Given the description of an element on the screen output the (x, y) to click on. 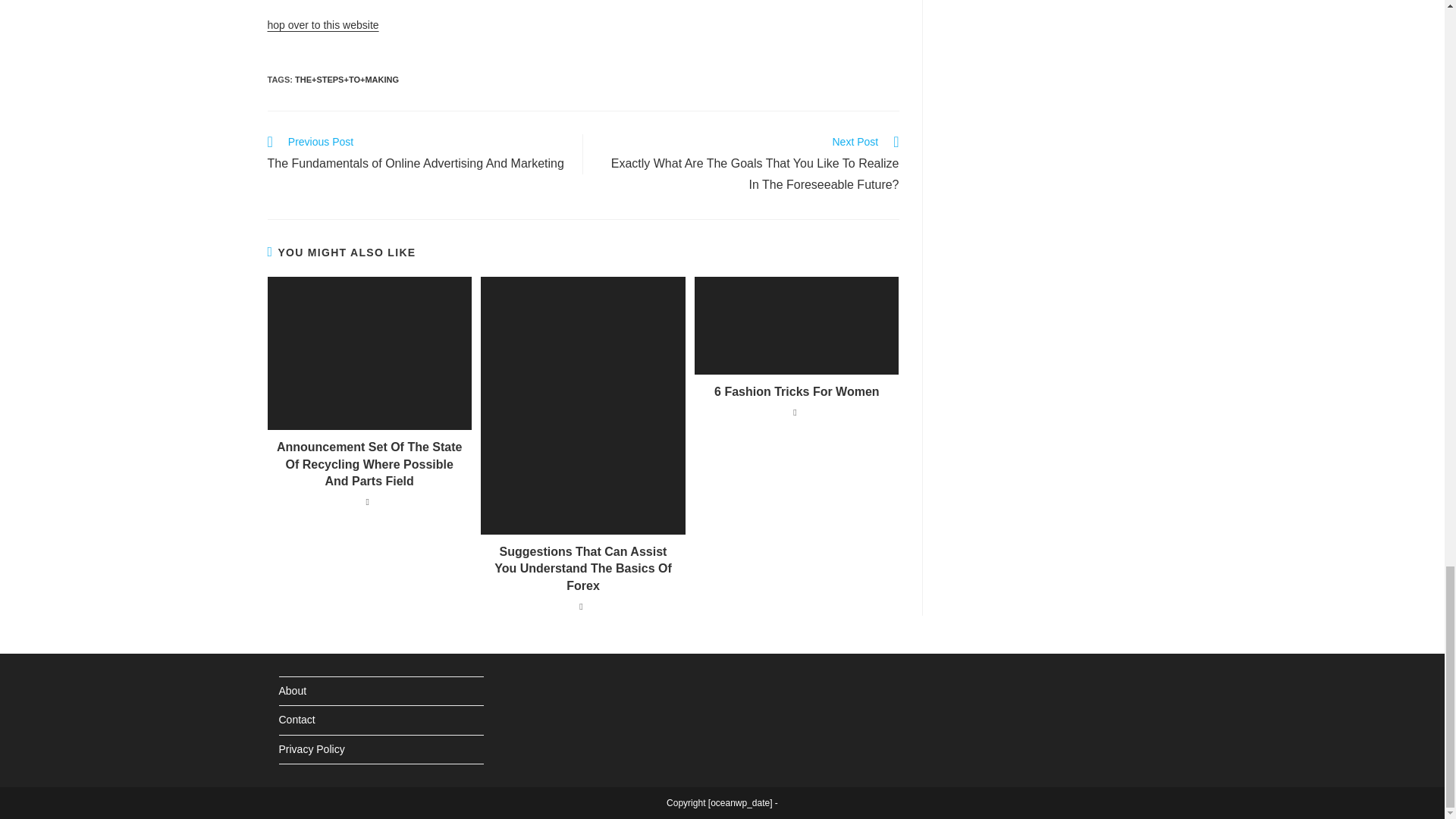
hop over to this website (322, 24)
6 Fashion Tricks For Women (796, 392)
